Given the description of an element on the screen output the (x, y) to click on. 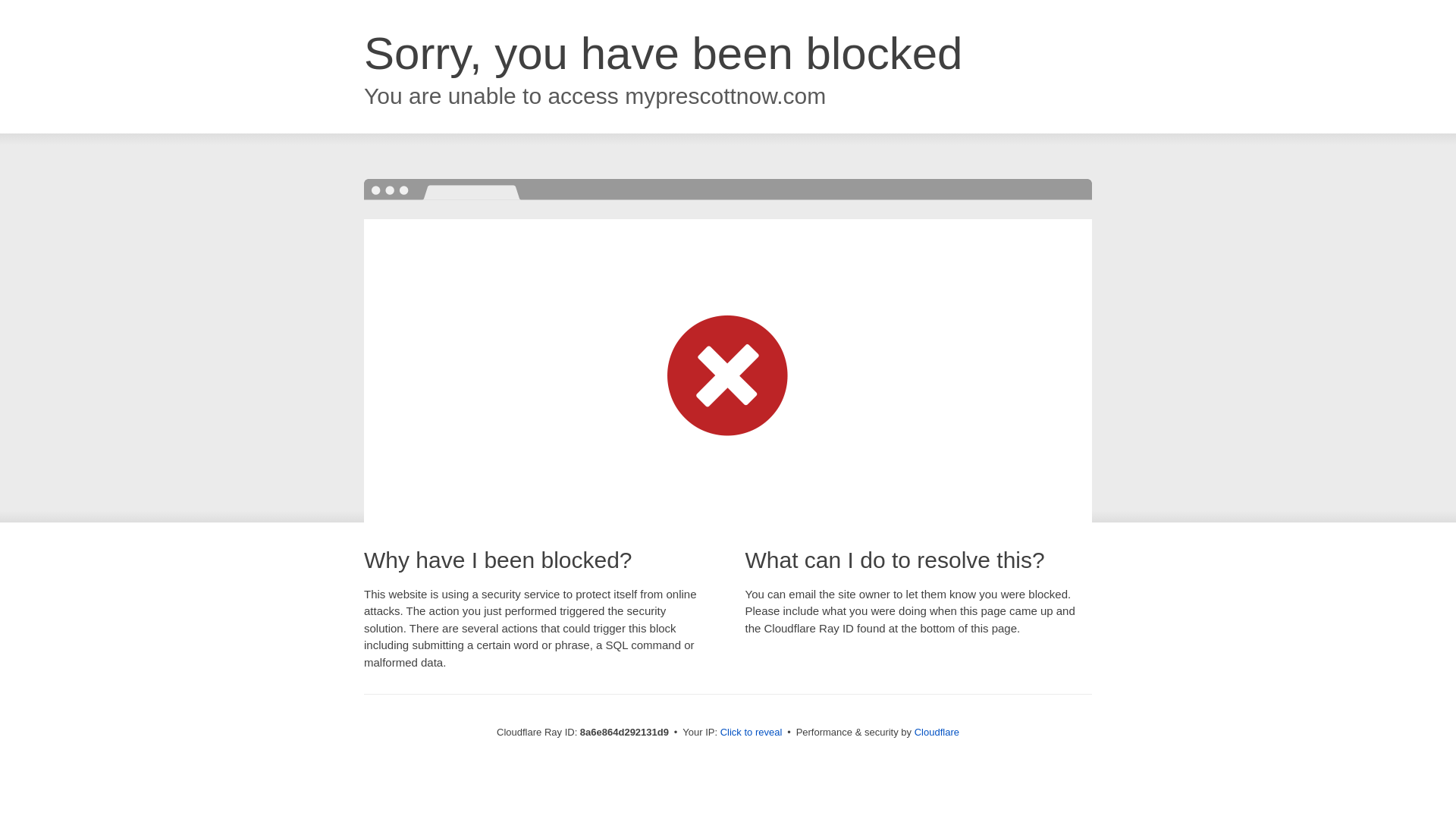
Cloudflare (936, 731)
Click to reveal (751, 732)
